Given the description of an element on the screen output the (x, y) to click on. 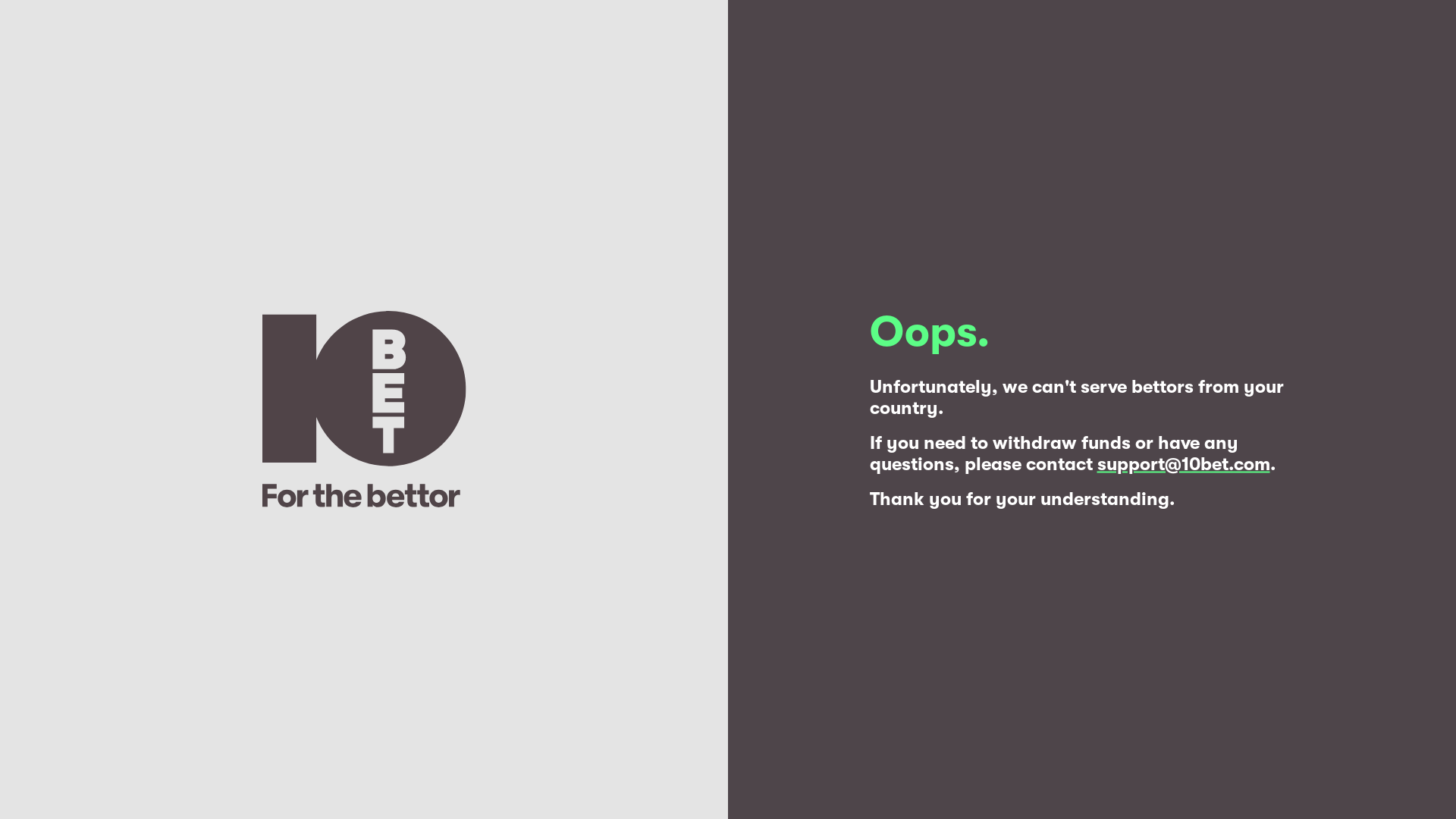
support@10bet.com Element type: text (1182, 463)
